Given the description of an element on the screen output the (x, y) to click on. 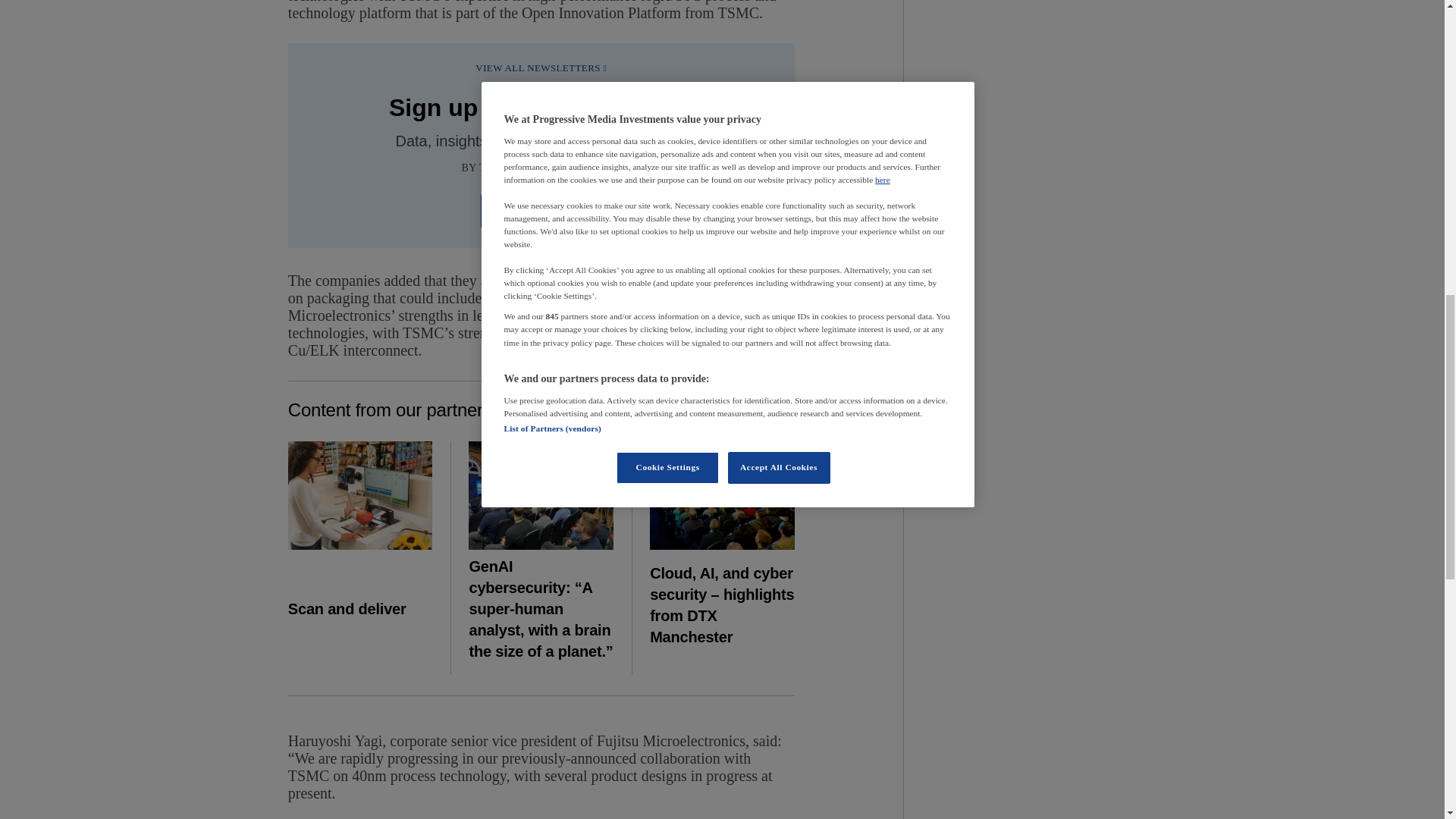
Scan and deliver (360, 495)
